Given the description of an element on the screen output the (x, y) to click on. 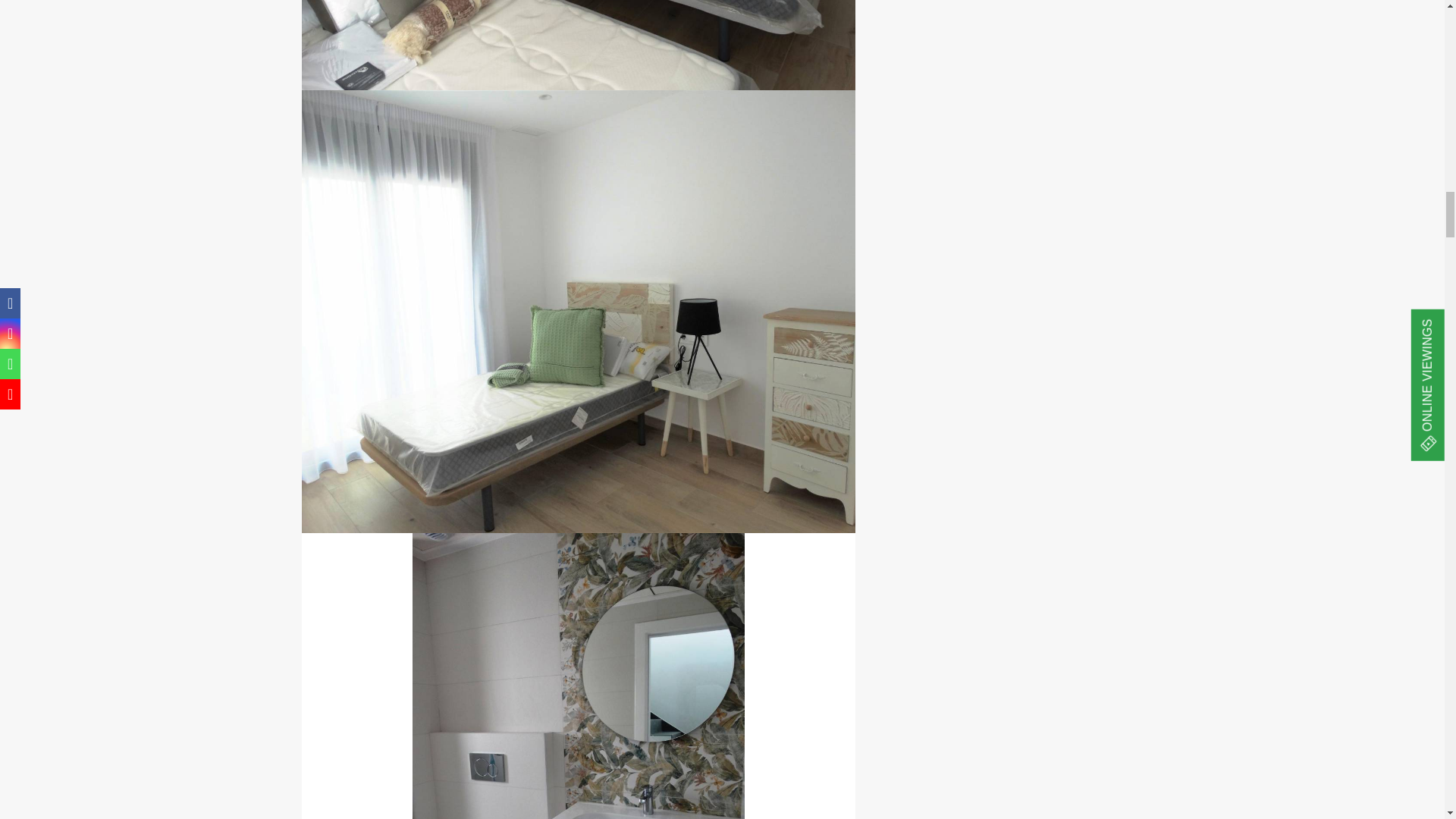
New Build - Villa - San Javier - Santiago de la Ribera (578, 45)
